Given the description of an element on the screen output the (x, y) to click on. 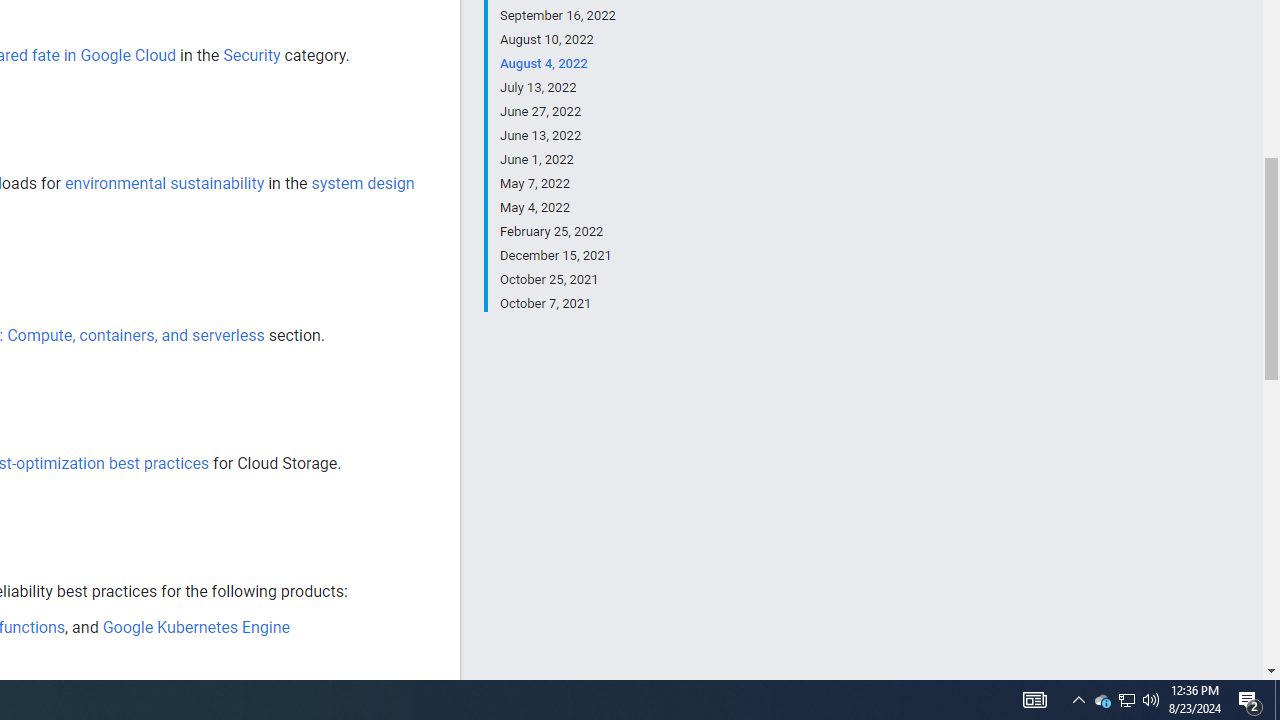
February 25, 2022 (557, 232)
October 7, 2021 (557, 301)
Security (251, 55)
May 4, 2022 (557, 207)
December 15, 2021 (557, 255)
June 27, 2022 (557, 111)
June 13, 2022 (557, 135)
environmental sustainability (164, 183)
September 16, 2022 (557, 16)
August 4, 2022 (557, 63)
system design (362, 183)
May 7, 2022 (557, 183)
July 13, 2022 (557, 88)
June 1, 2022 (557, 160)
